Given the description of an element on the screen output the (x, y) to click on. 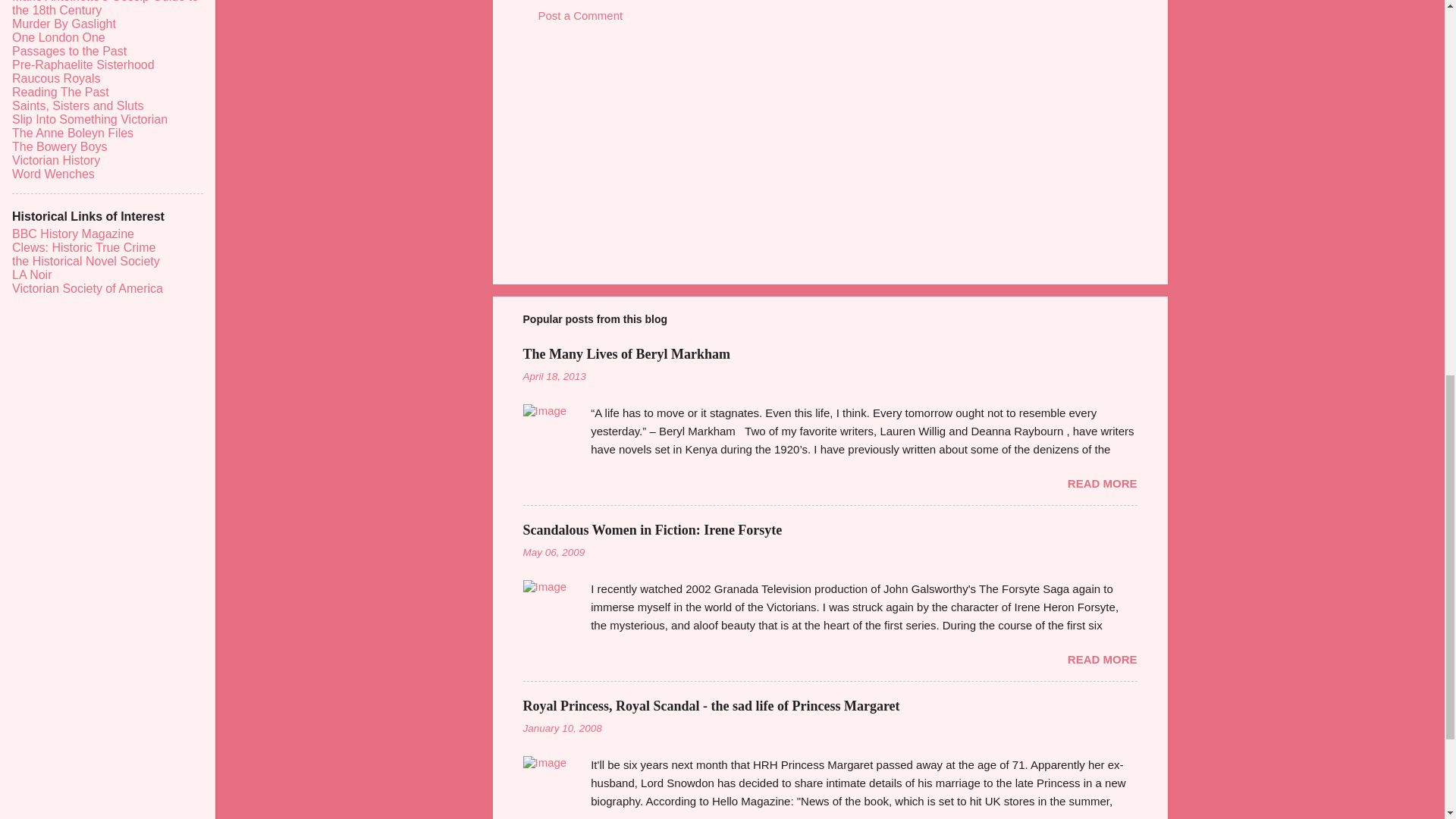
permanent link (554, 376)
May 06, 2009 (553, 552)
April 18, 2013 (554, 376)
READ MORE (1102, 658)
The Many Lives of Beryl Markham (626, 353)
January 10, 2008 (562, 727)
Post a Comment (580, 15)
Scandalous Women in Fiction: Irene Forsyte (652, 529)
READ MORE (1102, 482)
